Given the description of an element on the screen output the (x, y) to click on. 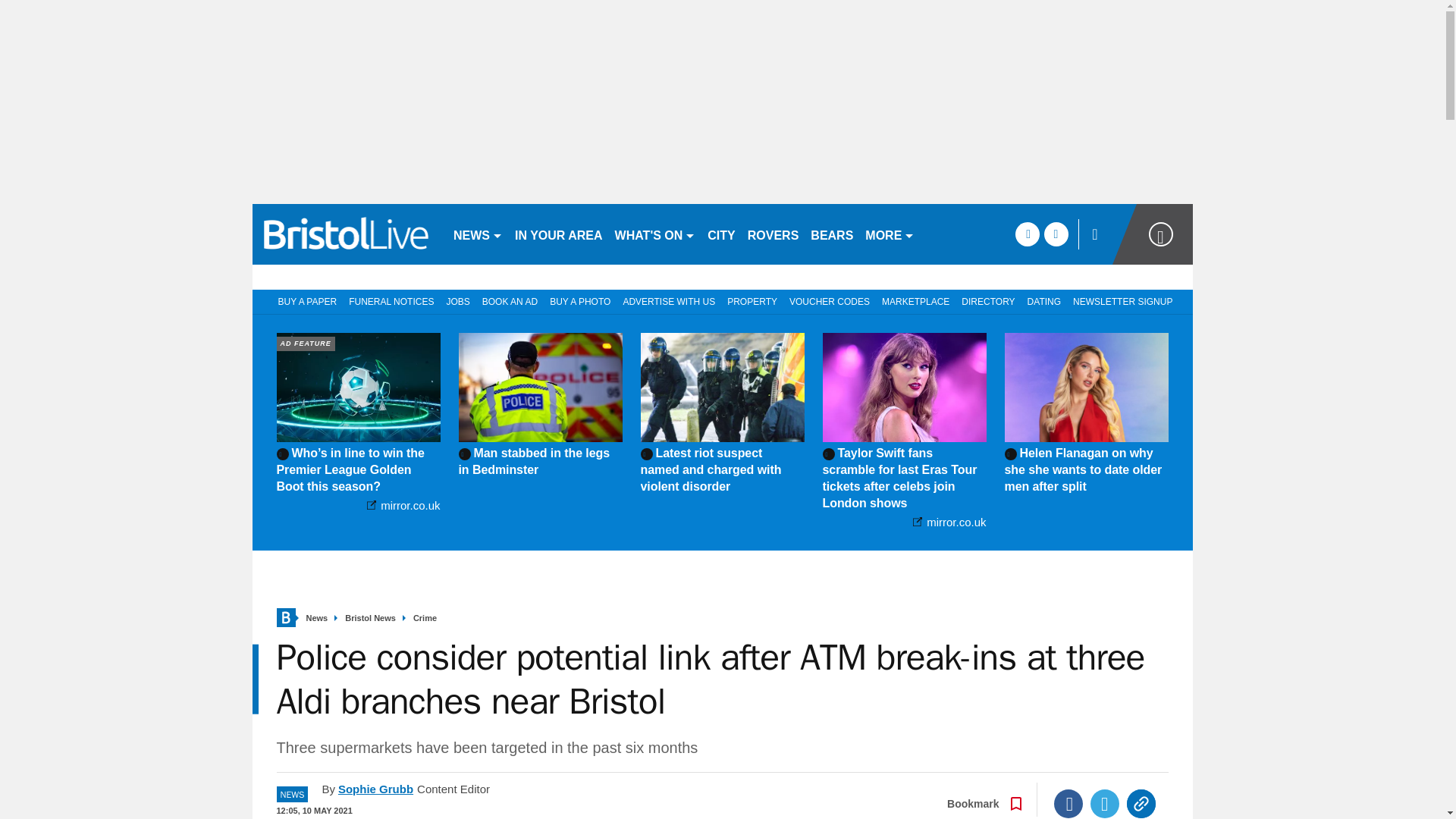
MORE (889, 233)
ROVERS (773, 233)
facebook (1026, 233)
NEWS (477, 233)
bristolpost (345, 233)
twitter (1055, 233)
Facebook (1068, 803)
Twitter (1104, 803)
WHAT'S ON (654, 233)
IN YOUR AREA (558, 233)
